Given the description of an element on the screen output the (x, y) to click on. 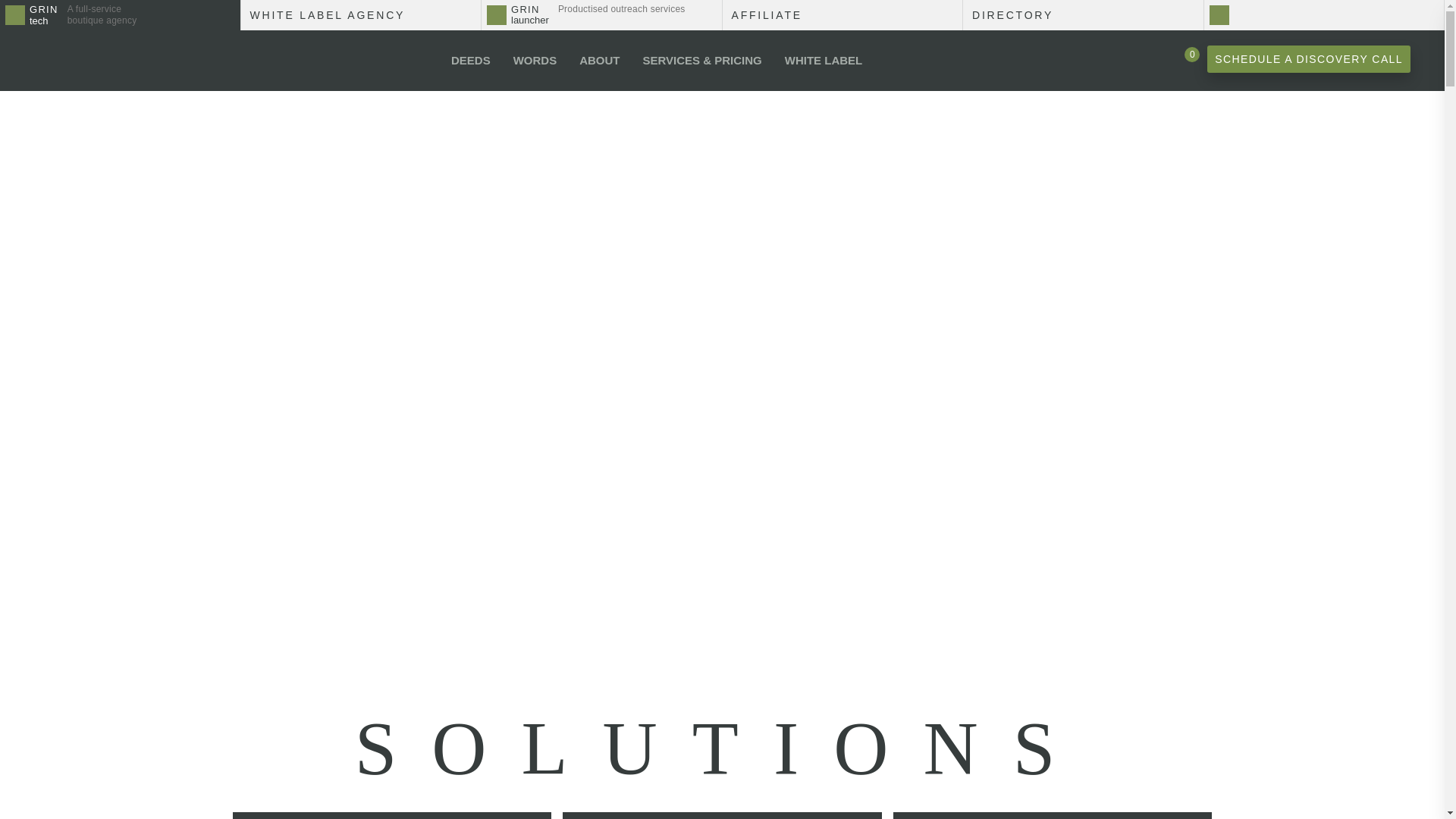
DEEDS (470, 60)
WHITE LABEL (824, 60)
ABOUT (120, 15)
0 (598, 60)
WORDS (1182, 58)
AFFILIATE (535, 60)
DIRECTORY (601, 15)
SCHEDULE A DISCOVERY CALL (842, 15)
WHITE LABEL AGENCY (1083, 15)
